Given the description of an element on the screen output the (x, y) to click on. 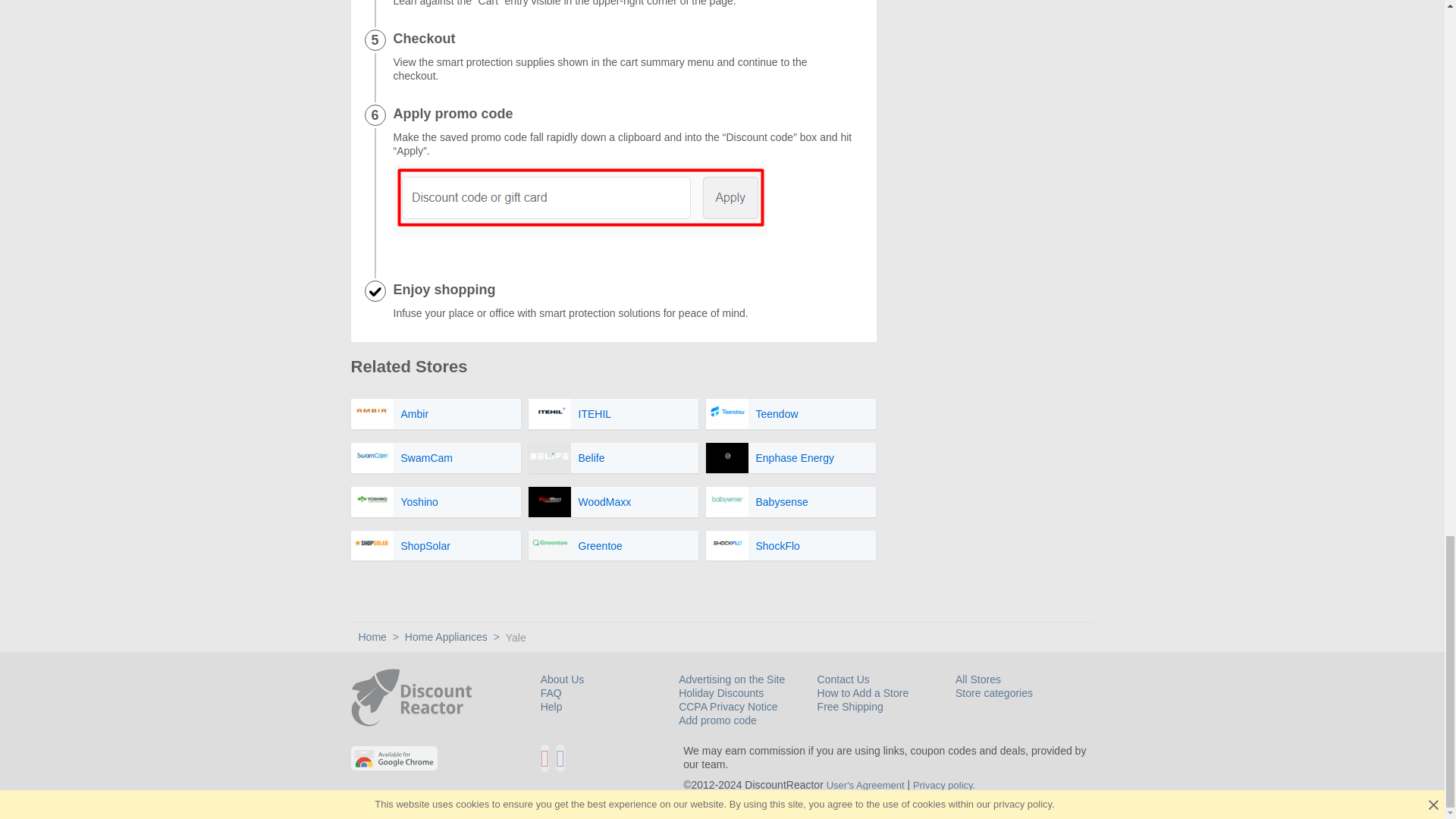
Where to enter Yale promo code (579, 199)
